Given the description of an element on the screen output the (x, y) to click on. 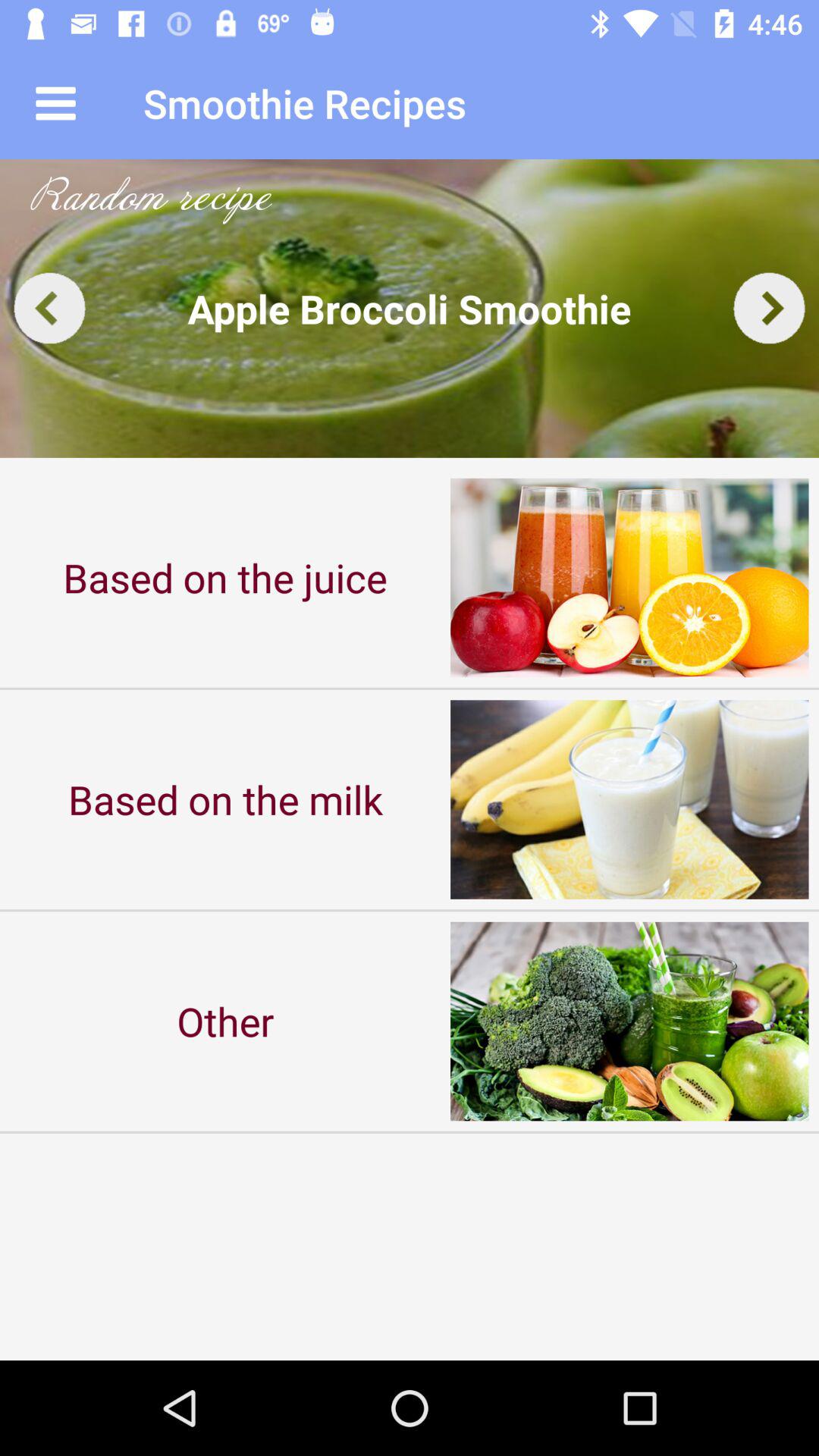
launch the item above based on the icon (409, 308)
